Given the description of an element on the screen output the (x, y) to click on. 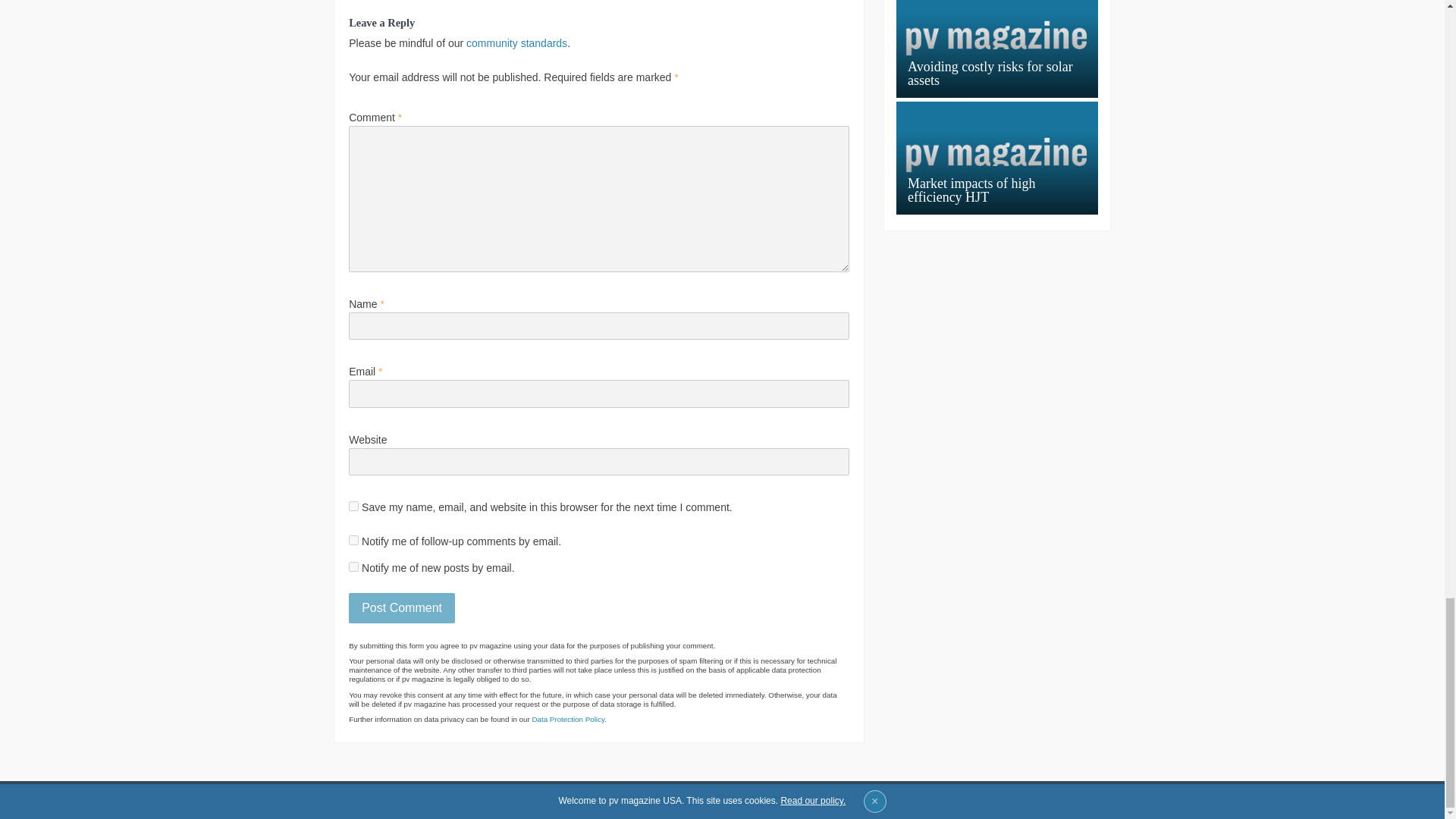
subscribe (353, 566)
yes (353, 506)
subscribe (353, 540)
Post Comment (401, 607)
